Given the description of an element on the screen output the (x, y) to click on. 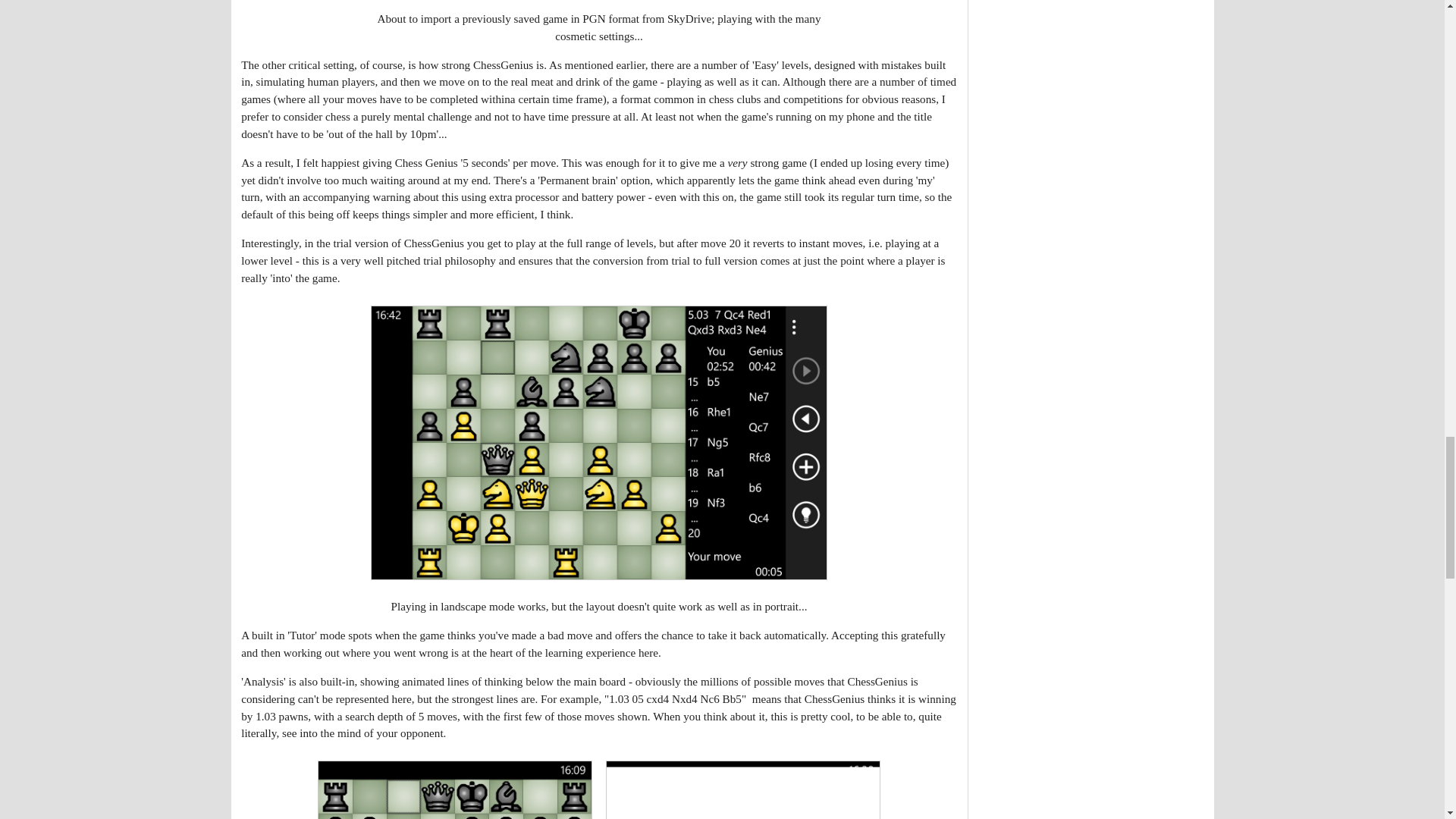
Screenshot, ChessGenius (454, 789)
Screenshot, ChessGenius (742, 789)
Screenshot, ChessGenius (599, 442)
